Given the description of an element on the screen output the (x, y) to click on. 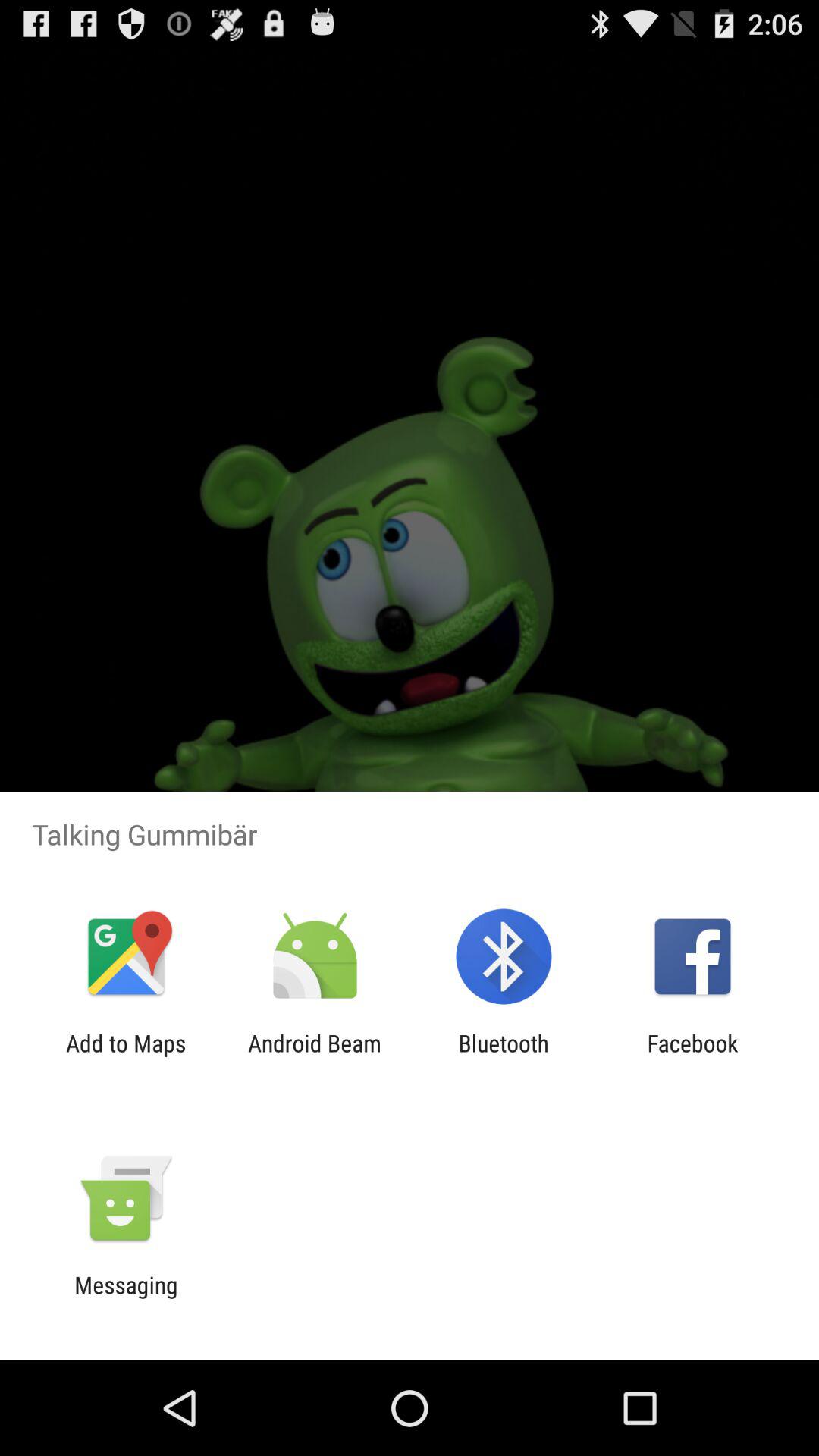
jump until the messaging (126, 1298)
